Given the description of an element on the screen output the (x, y) to click on. 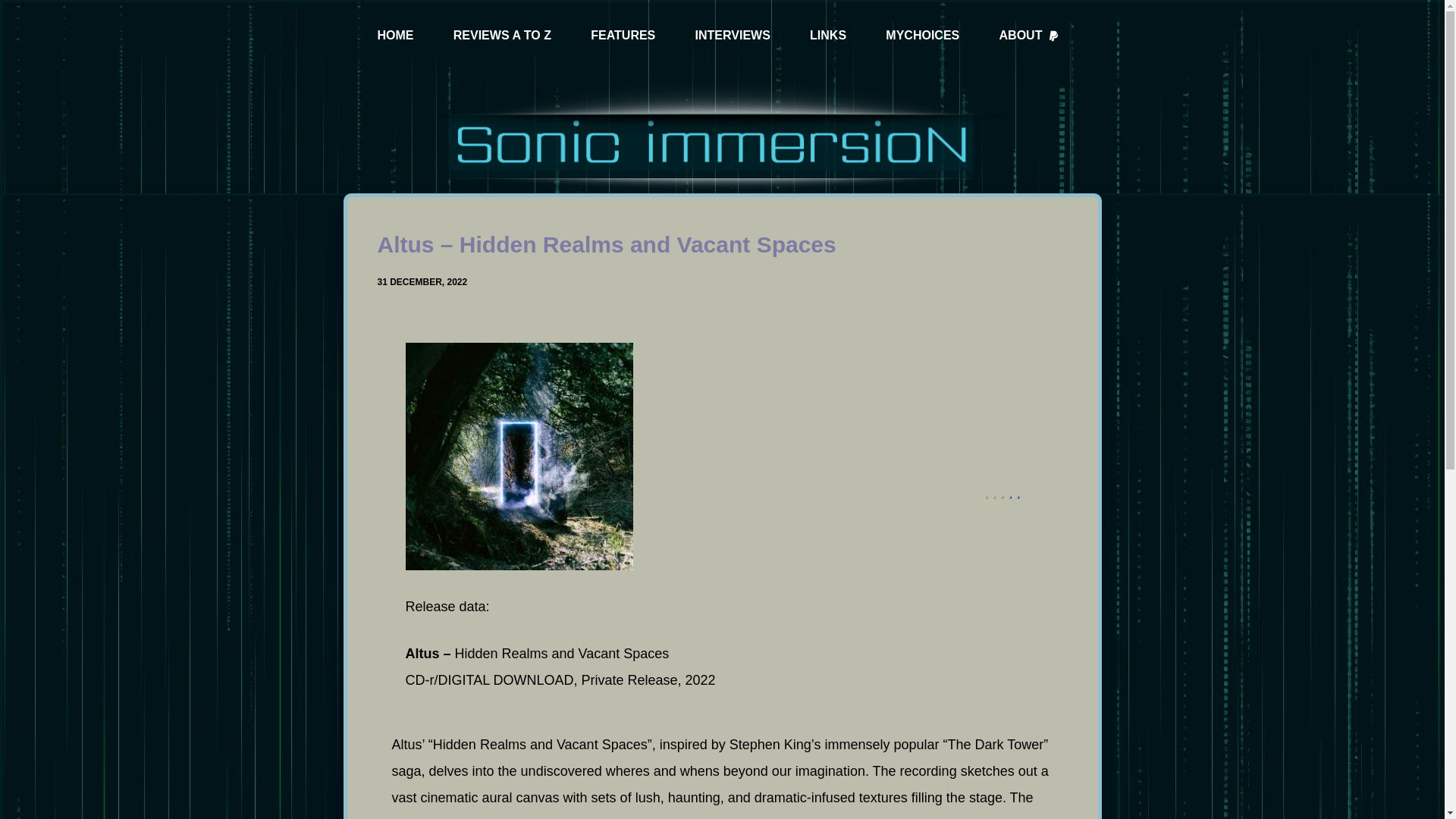
INTERVIEWS (732, 36)
CreativeThemes (774, 793)
LINKS (827, 36)
HOME (395, 36)
FEATURES (622, 36)
ABOUT (1029, 36)
REVIEWS A TO Z (502, 36)
MYCHOICES (921, 36)
Skip to content (15, 7)
